Given the description of an element on the screen output the (x, y) to click on. 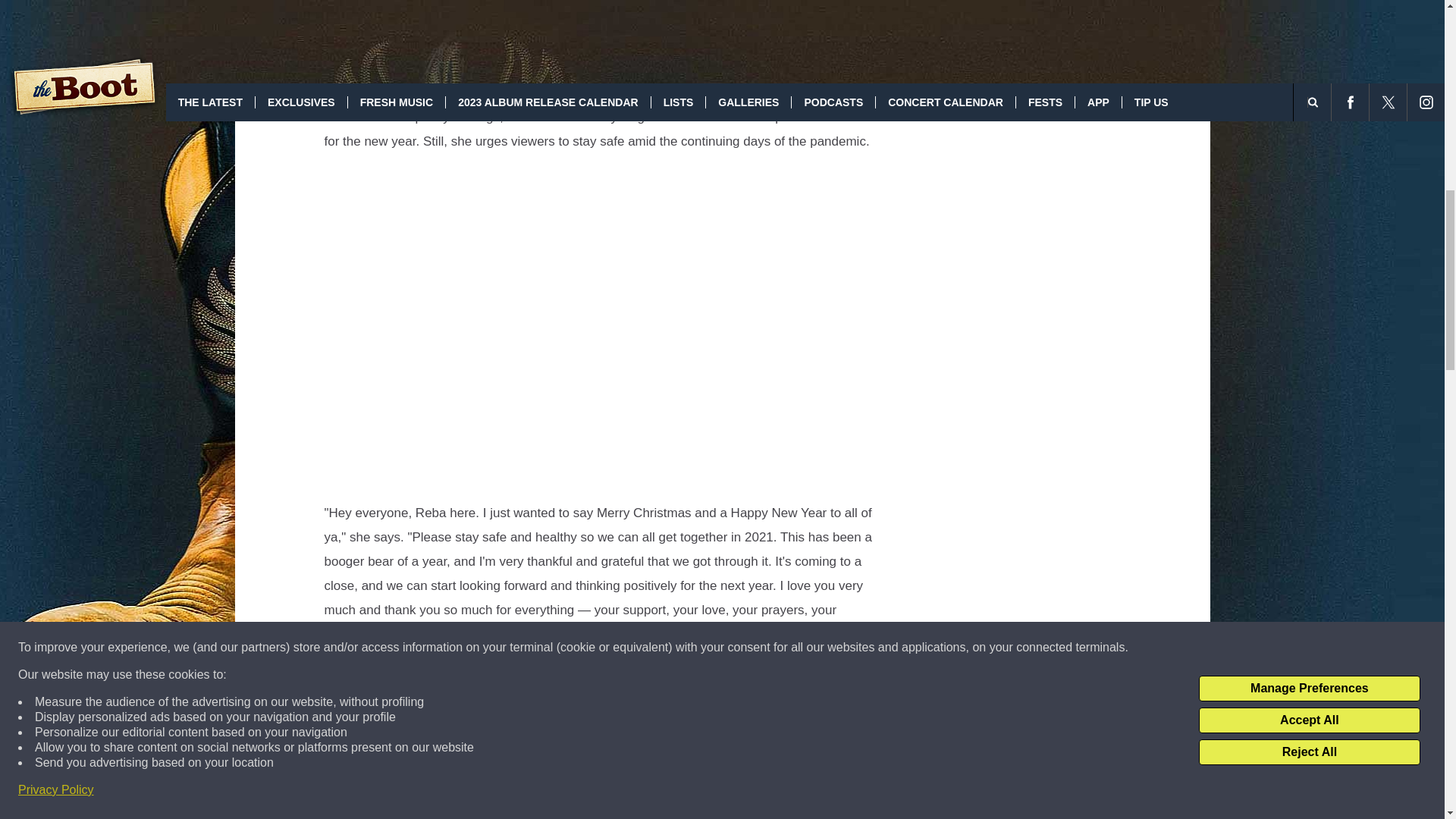
CDC (571, 7)
Darius Rucker (777, 695)
a whole new kind of awards show (609, 719)
inside Nashville's Music City Center (469, 768)
2020 CMA Awards (571, 695)
